Given the description of an element on the screen output the (x, y) to click on. 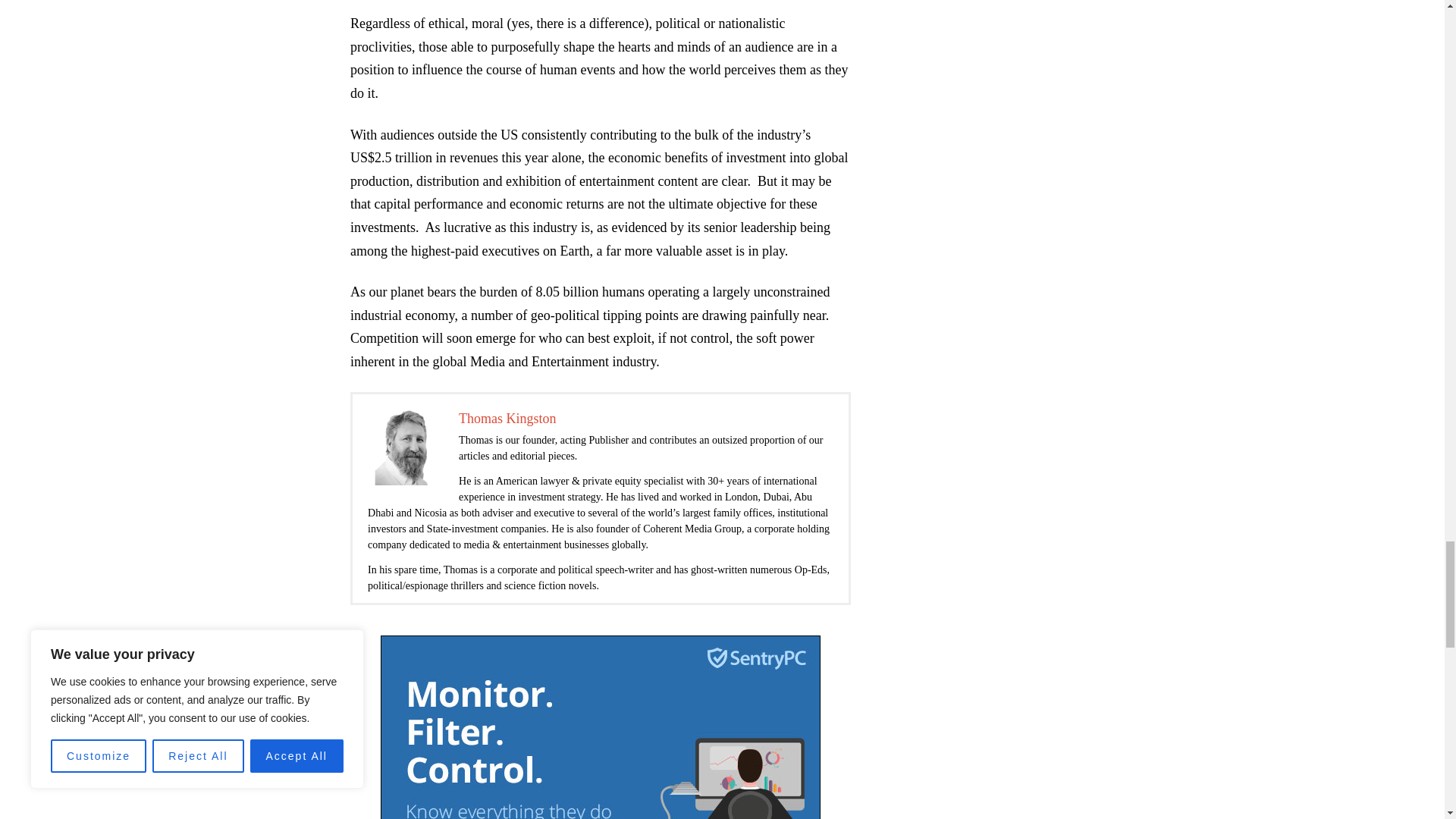
Thomas Kingston (507, 418)
